Given the description of an element on the screen output the (x, y) to click on. 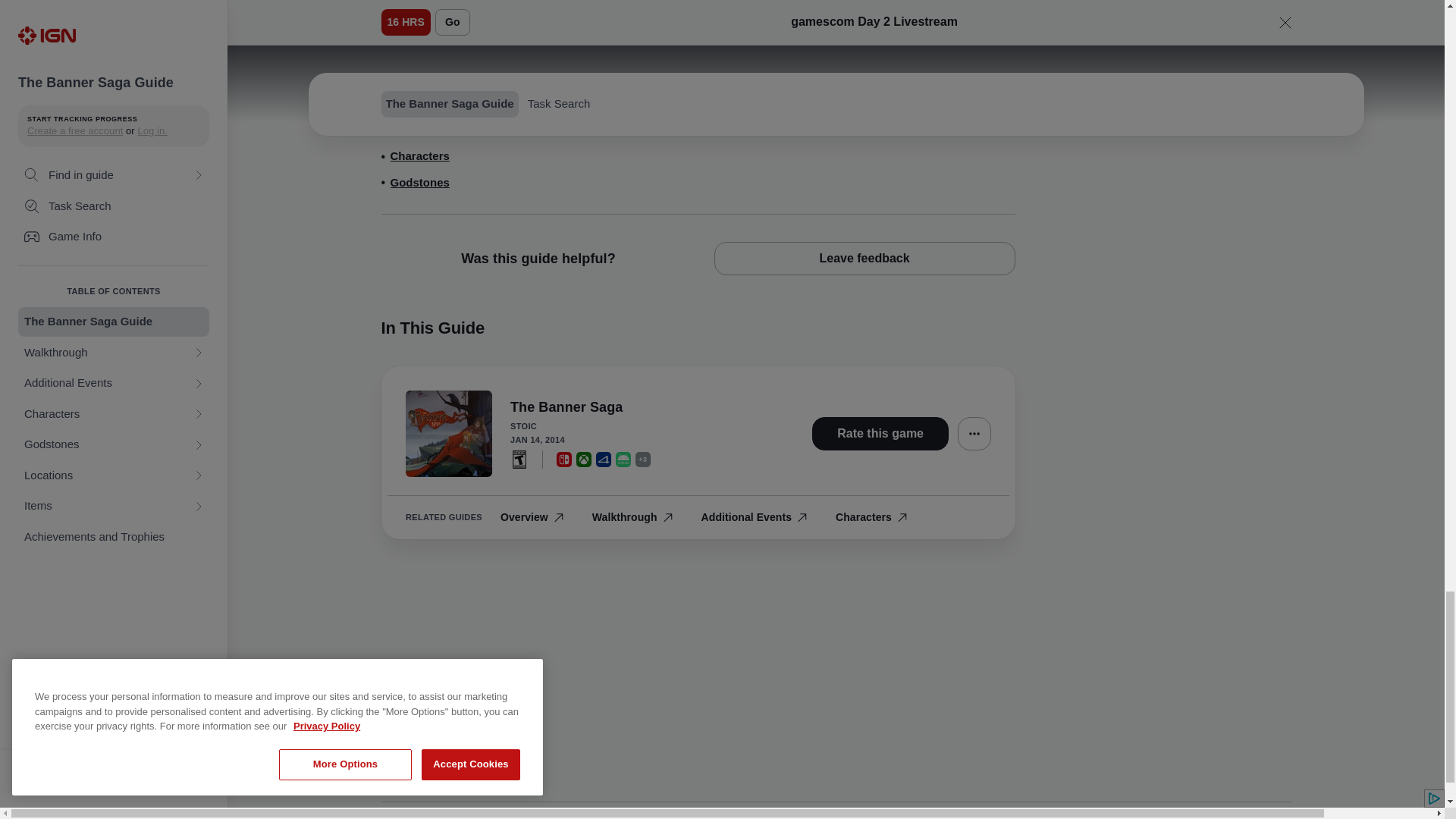
Additional Events (954, 7)
Walkthrough (438, 130)
PlayStation 4 (424, 104)
Xbox One (603, 458)
ESRB: Teen (583, 458)
Nintendo Switch (518, 458)
